Given the description of an element on the screen output the (x, y) to click on. 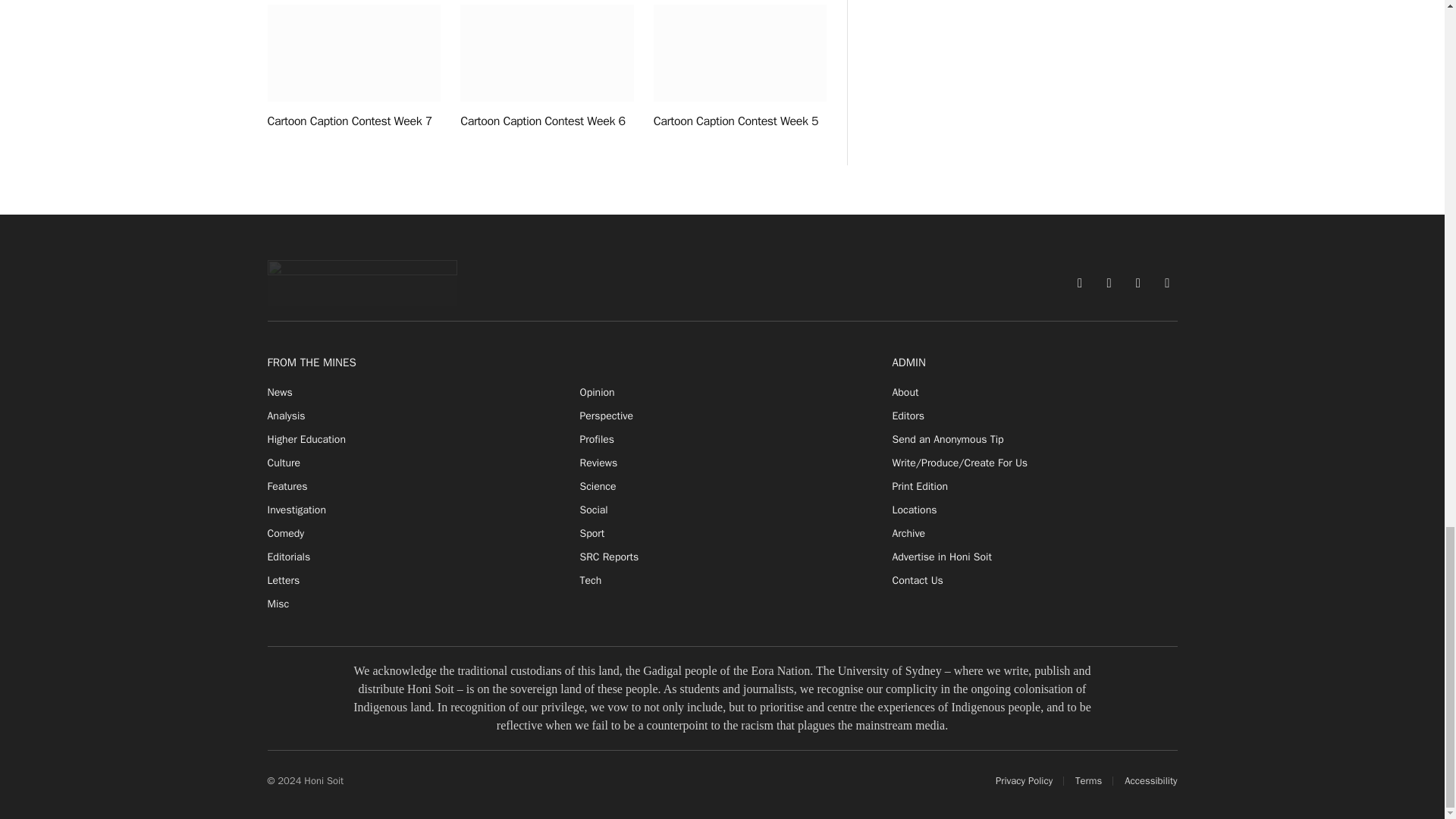
Cartoon Caption Contest Week 7 (353, 53)
Cartoon Caption Contest Week 6 (546, 53)
